Given the description of an element on the screen output the (x, y) to click on. 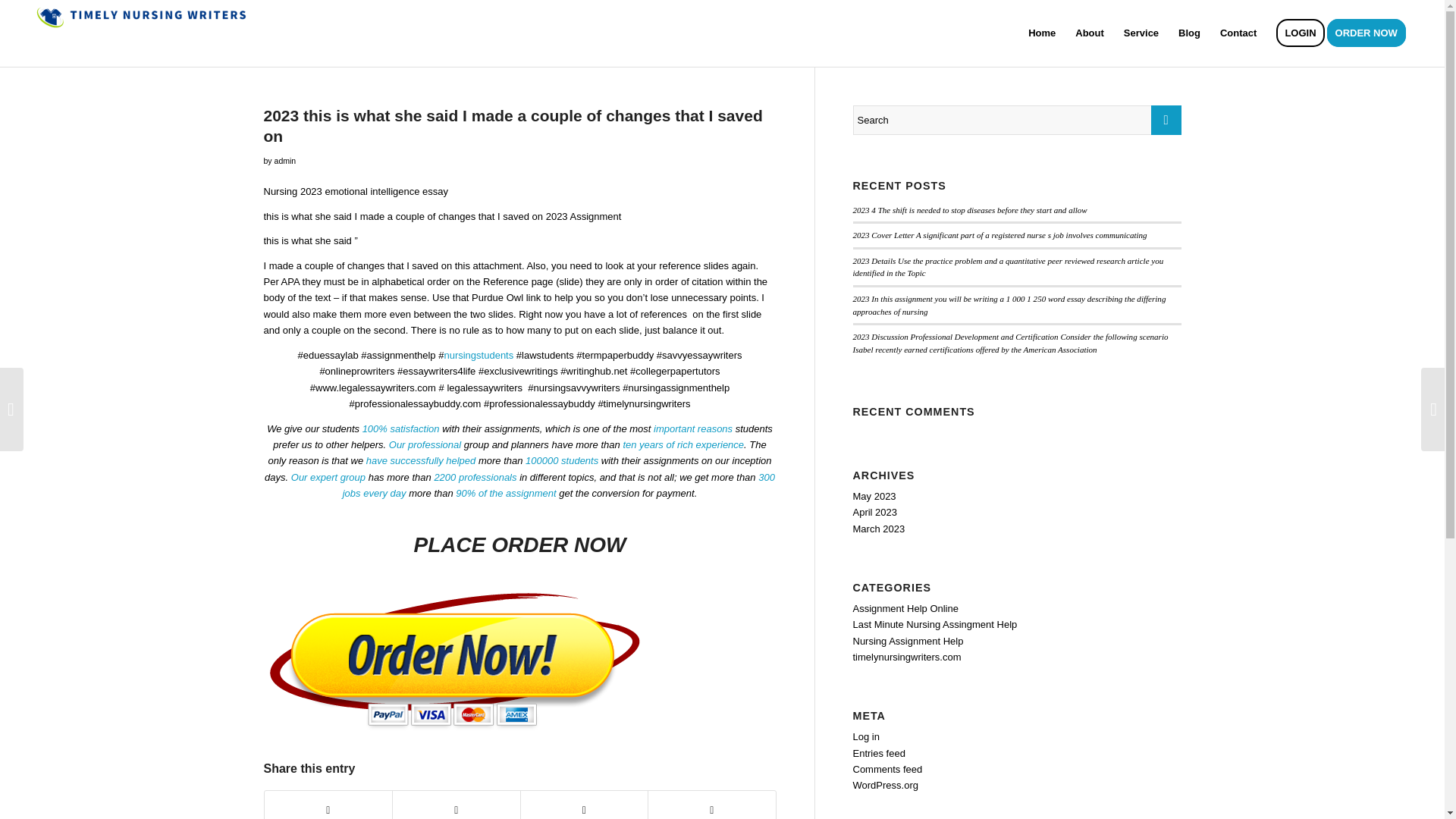
important reasons (692, 428)
have successfully helped (421, 460)
admin (286, 160)
ORDER NOW (1370, 33)
timelynursingwriters.com (905, 656)
100000 students (561, 460)
ten years of rich experience (683, 444)
2200 professionals (474, 477)
LOGIN (1299, 33)
Posts by admin (286, 160)
